Given the description of an element on the screen output the (x, y) to click on. 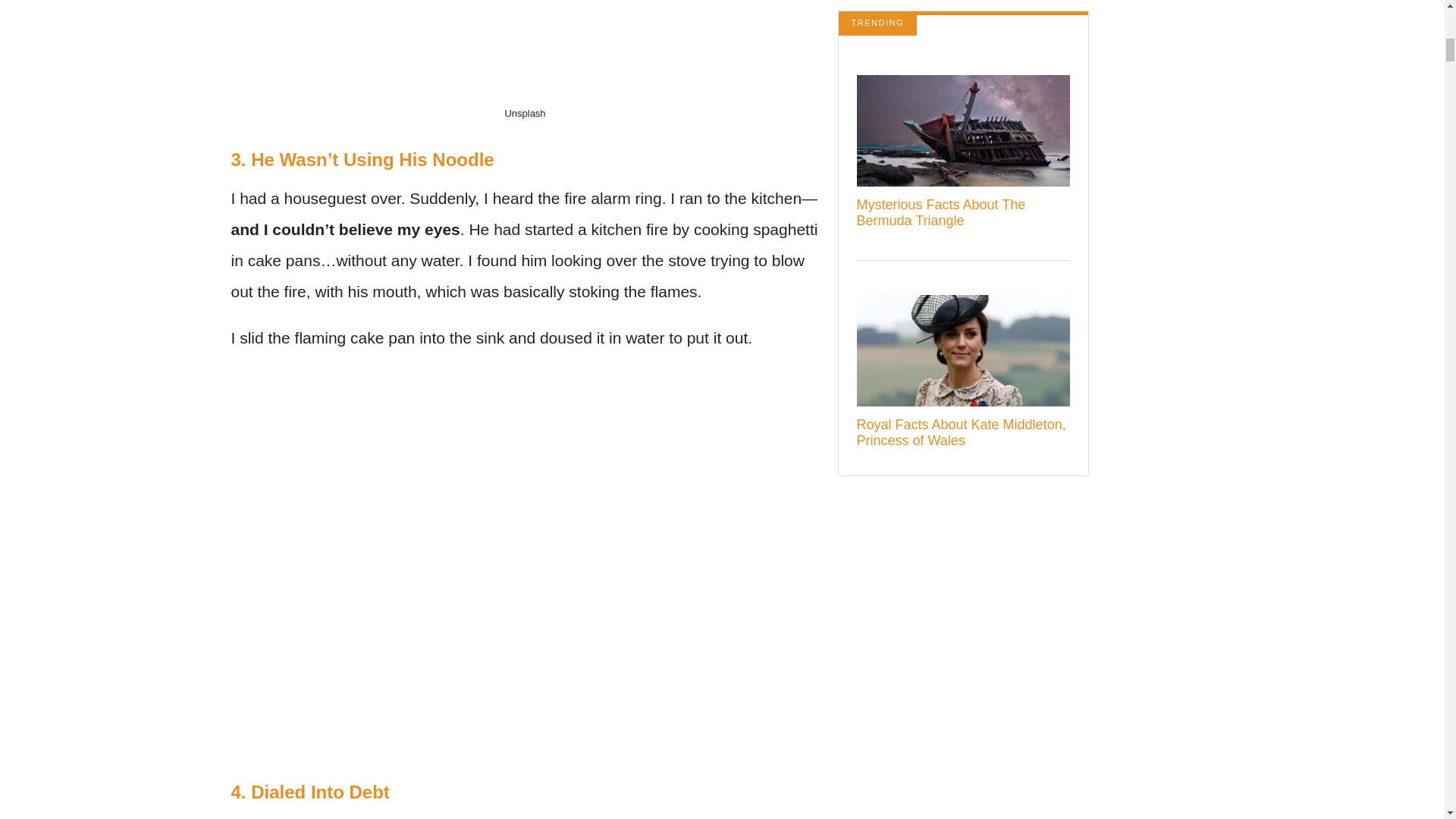
Unsplash (523, 112)
